Given the description of an element on the screen output the (x, y) to click on. 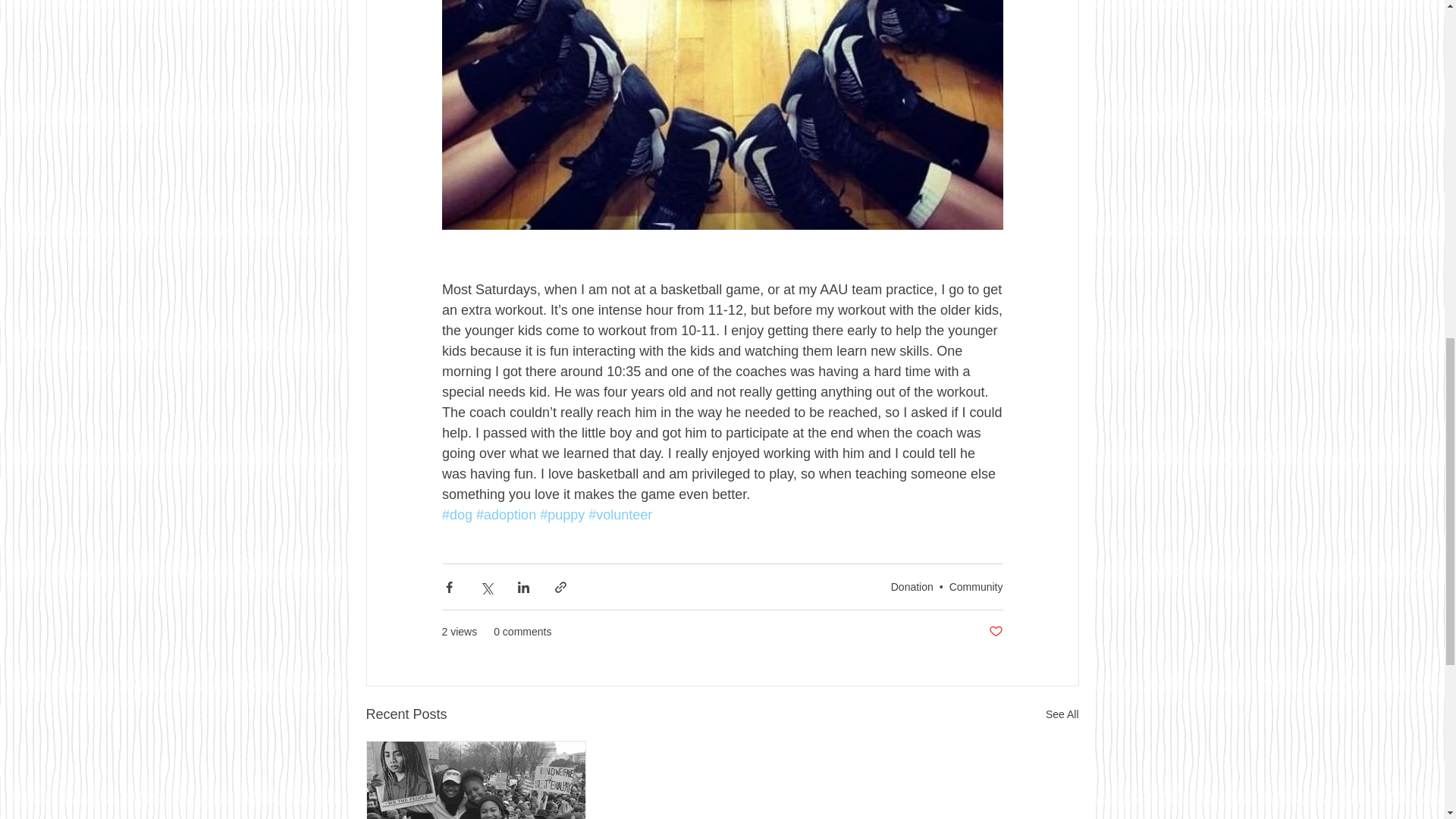
Donation (912, 586)
Post not marked as liked (995, 631)
Community (976, 586)
See All (1061, 714)
